Given the description of an element on the screen output the (x, y) to click on. 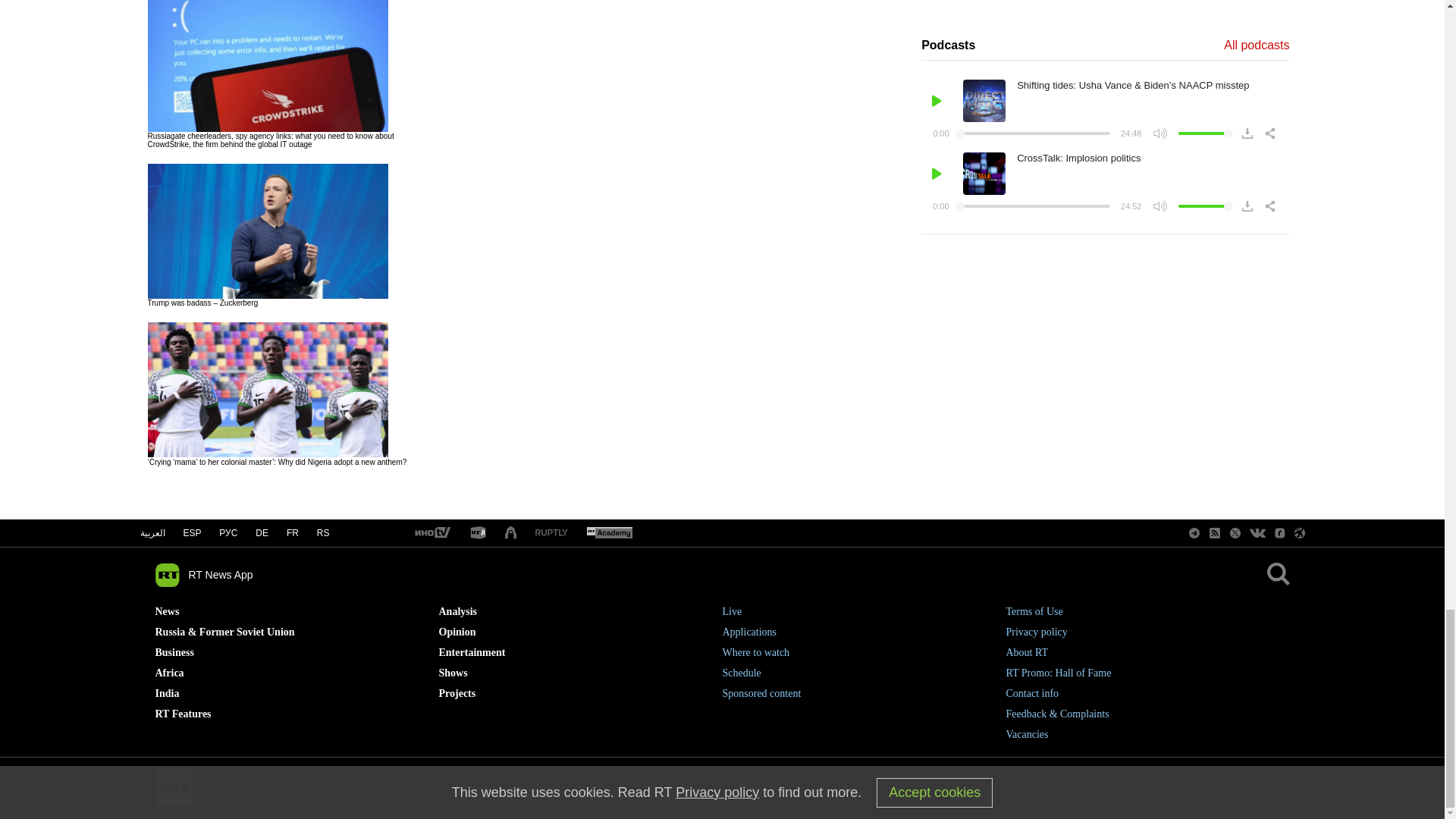
RT  (478, 533)
RT  (608, 533)
RT  (551, 533)
RT  (431, 533)
